Given the description of an element on the screen output the (x, y) to click on. 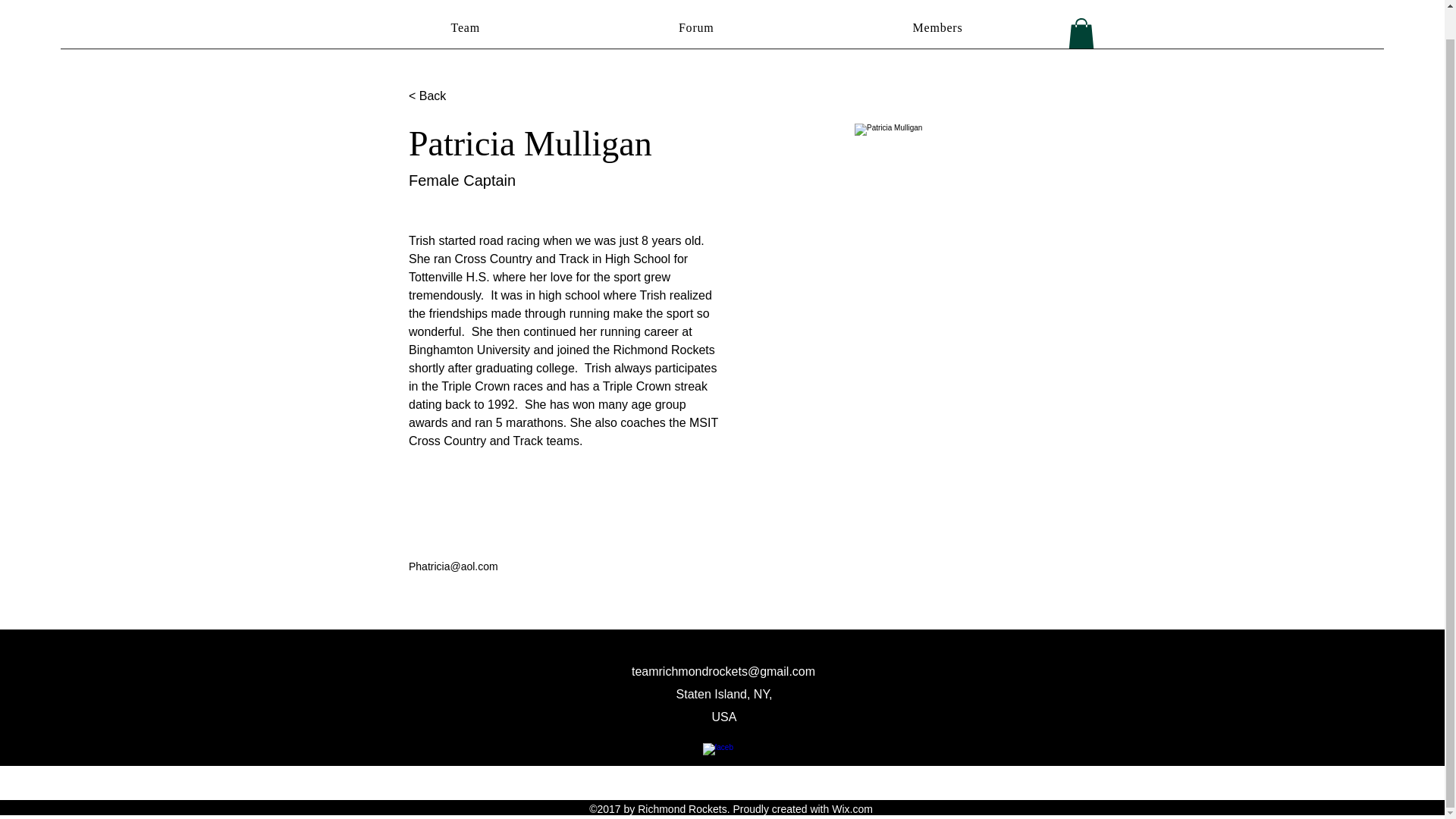
Calendar (973, 3)
Halloween Run (883, 3)
Members (937, 28)
Forum (696, 28)
Scholarship (784, 3)
Team (465, 28)
Home (379, 3)
Membership (511, 3)
Shop (1035, 3)
Group Runs (601, 3)
